Given the description of an element on the screen output the (x, y) to click on. 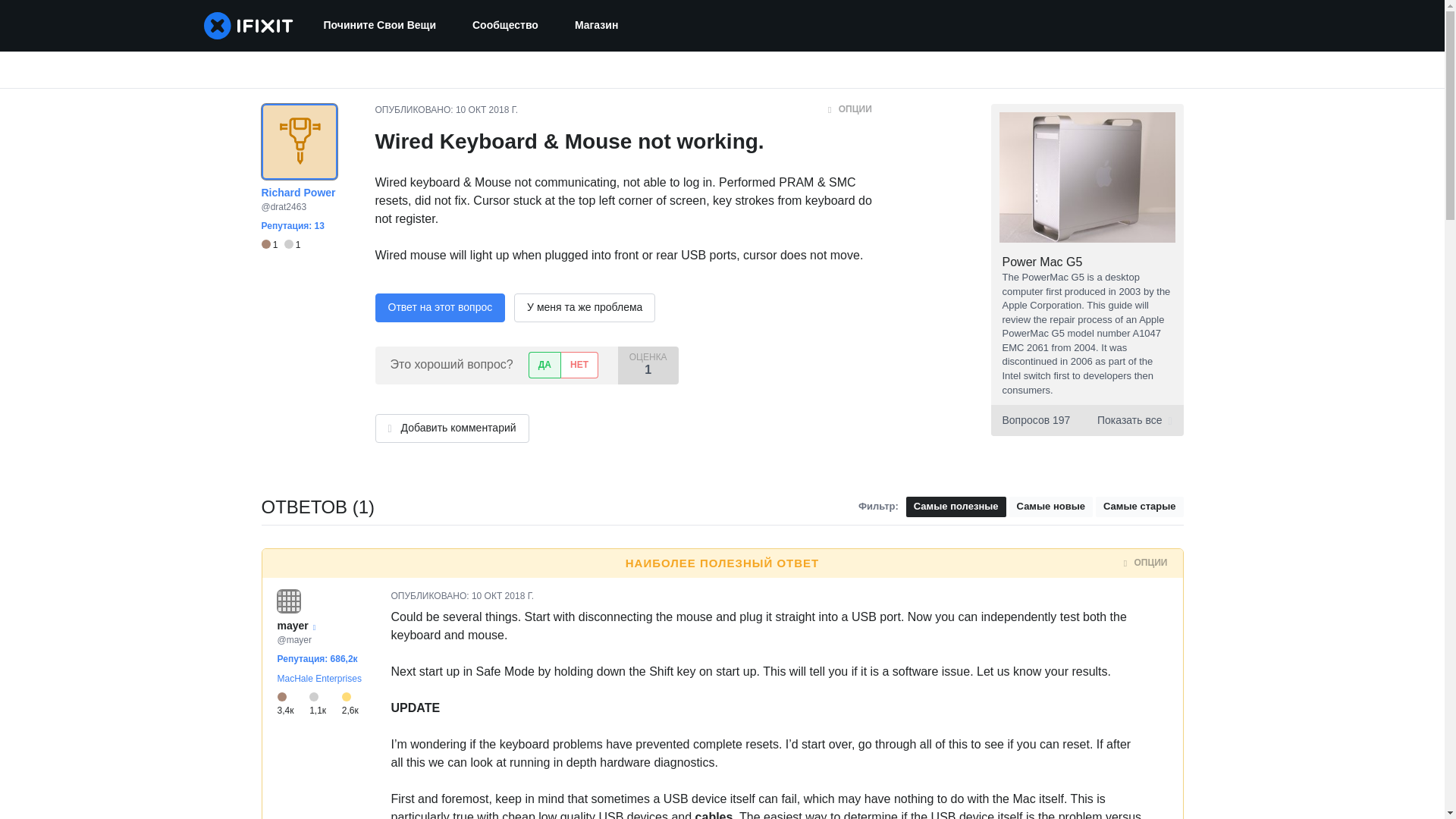
MacHale Enterprises (319, 678)
Wed, 10 Oct 2018 18:34:12 -0700 (502, 595)
Power Mac G5 (1043, 261)
Wed, 10 Oct 2018 18:06:45 -0700 (486, 109)
1 1 (279, 245)
